Given the description of an element on the screen output the (x, y) to click on. 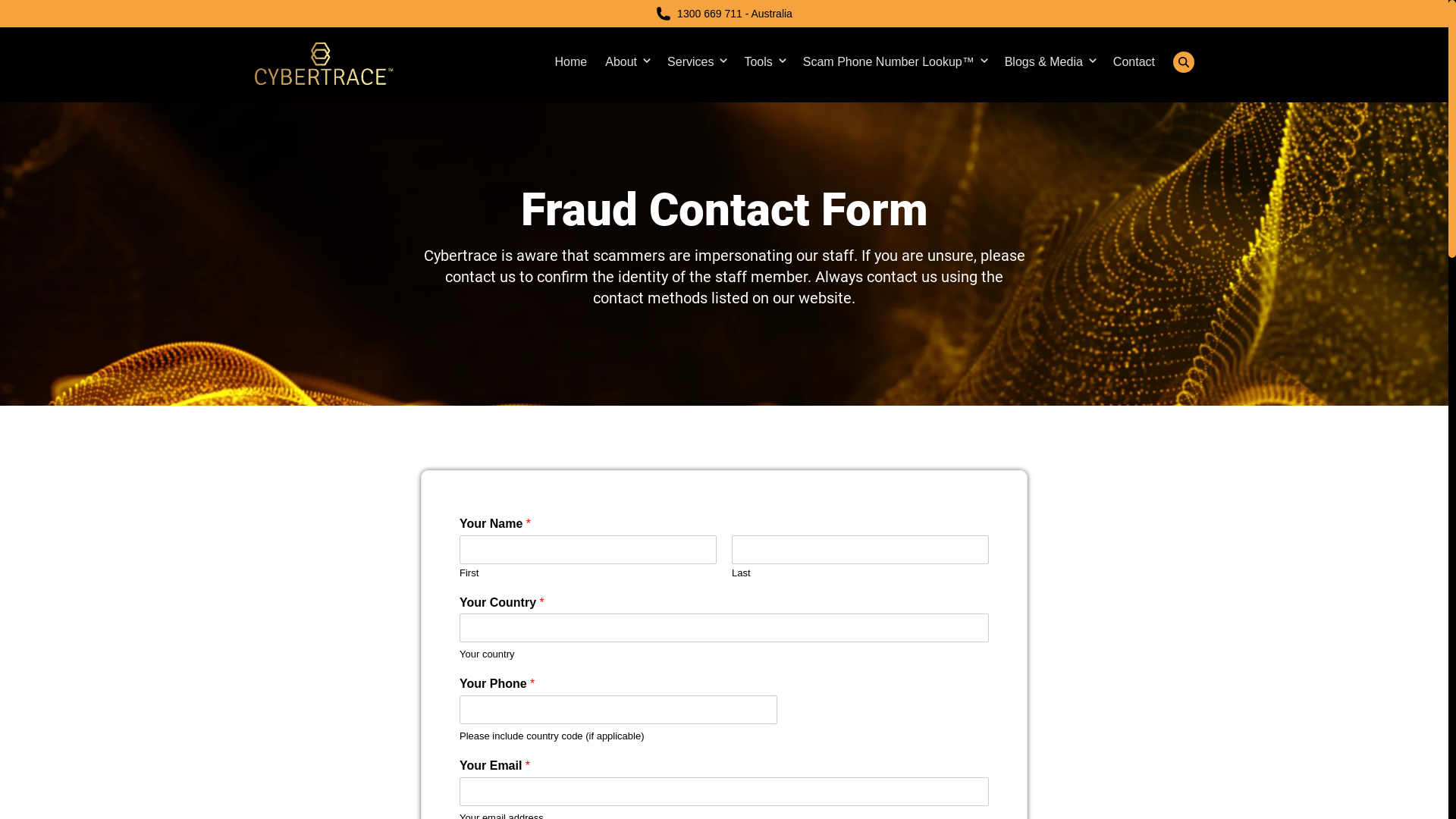
About Element type: text (621, 61)
Contact Element type: text (1133, 61)
Home Element type: text (571, 61)
Services Element type: text (690, 61)
1300 669 711 - Australia Element type: text (734, 13)
Tools Element type: text (757, 61)
Blogs & Media Element type: text (1043, 61)
